Given the description of an element on the screen output the (x, y) to click on. 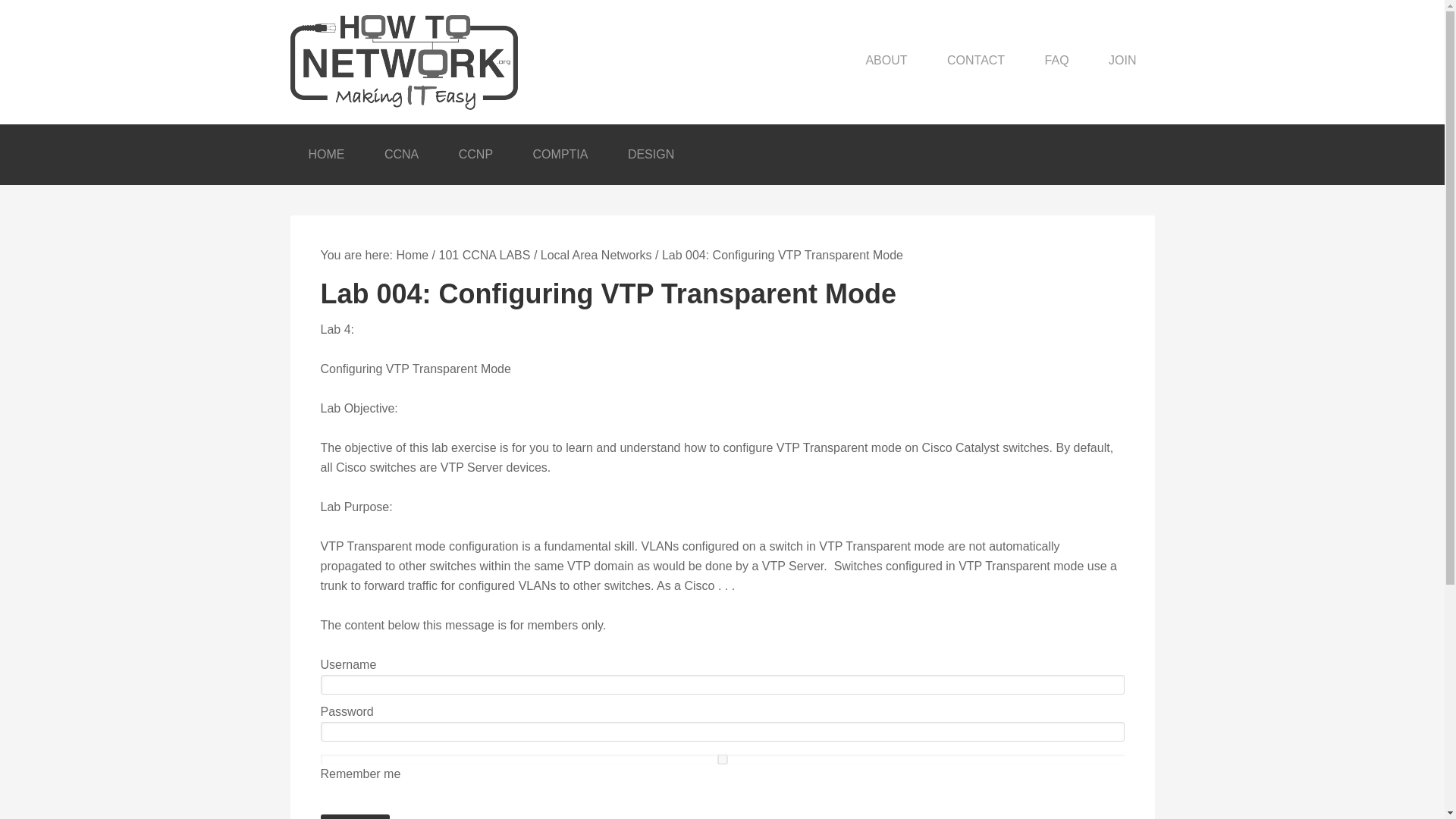
FAQ (1056, 60)
CCNA (401, 154)
Login (355, 816)
ABOUT (885, 60)
WWW.HOWTONETWORK.ORG (410, 62)
COMPTIA (561, 154)
1 (722, 759)
CONTACT (975, 60)
HOME (325, 154)
101 CCNA LABS (483, 254)
JOIN (1122, 60)
Login (355, 816)
Home (412, 254)
Local Area Networks (596, 254)
DESIGN (651, 154)
